Given the description of an element on the screen output the (x, y) to click on. 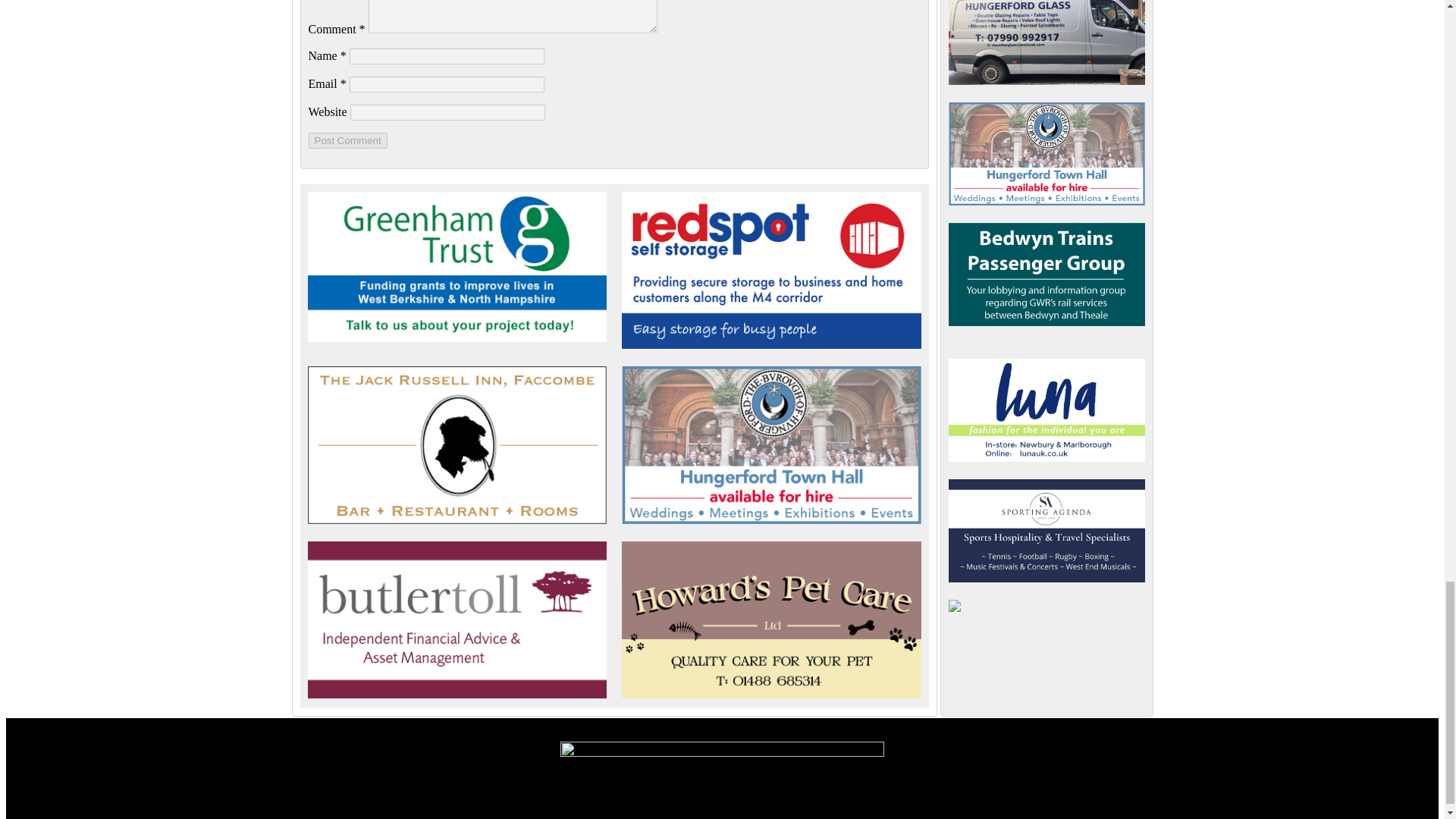
Post Comment (347, 140)
